Given the description of an element on the screen output the (x, y) to click on. 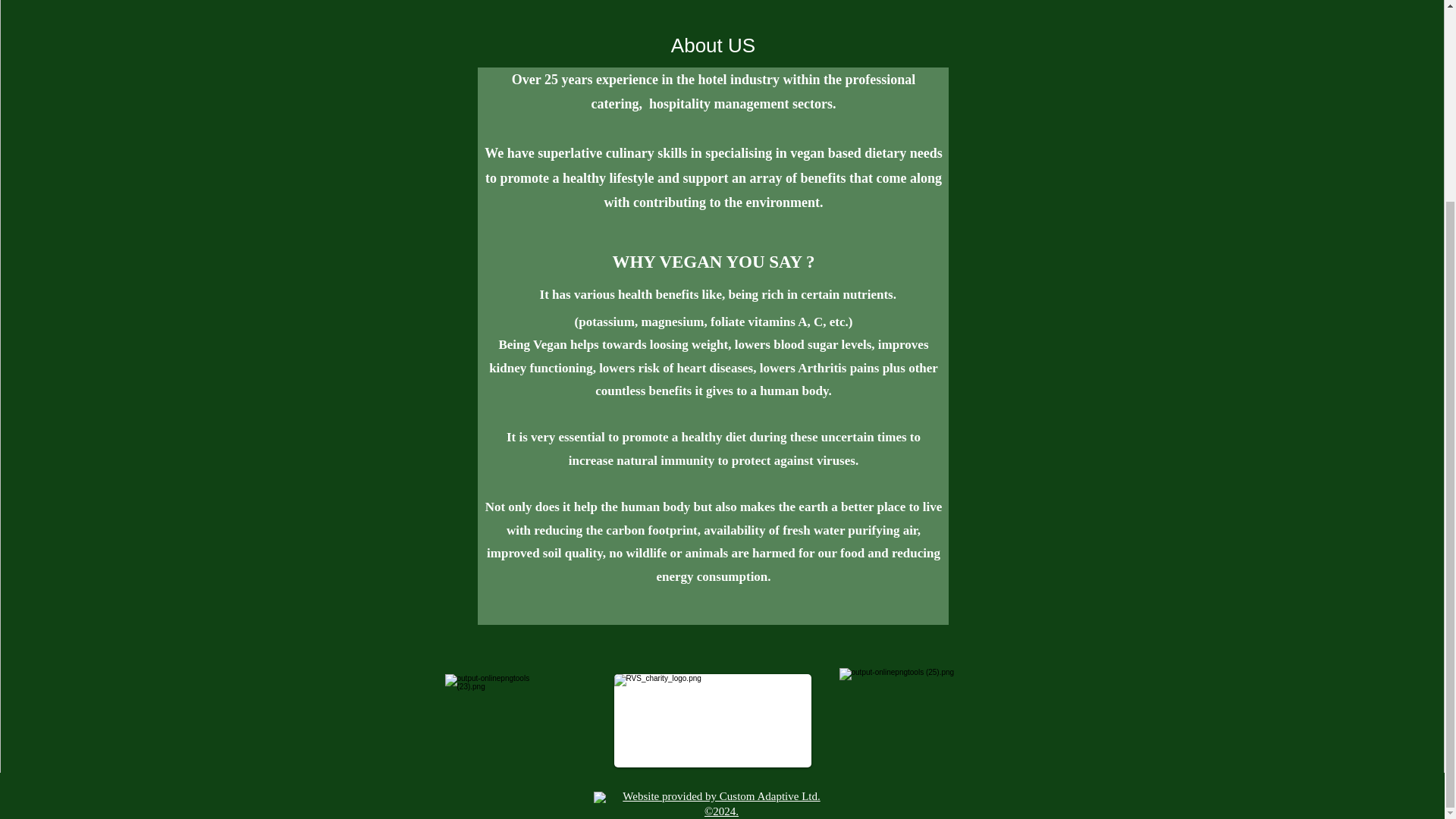
Website provided by Custom Adaptive Ltd. (721, 796)
